Given the description of an element on the screen output the (x, y) to click on. 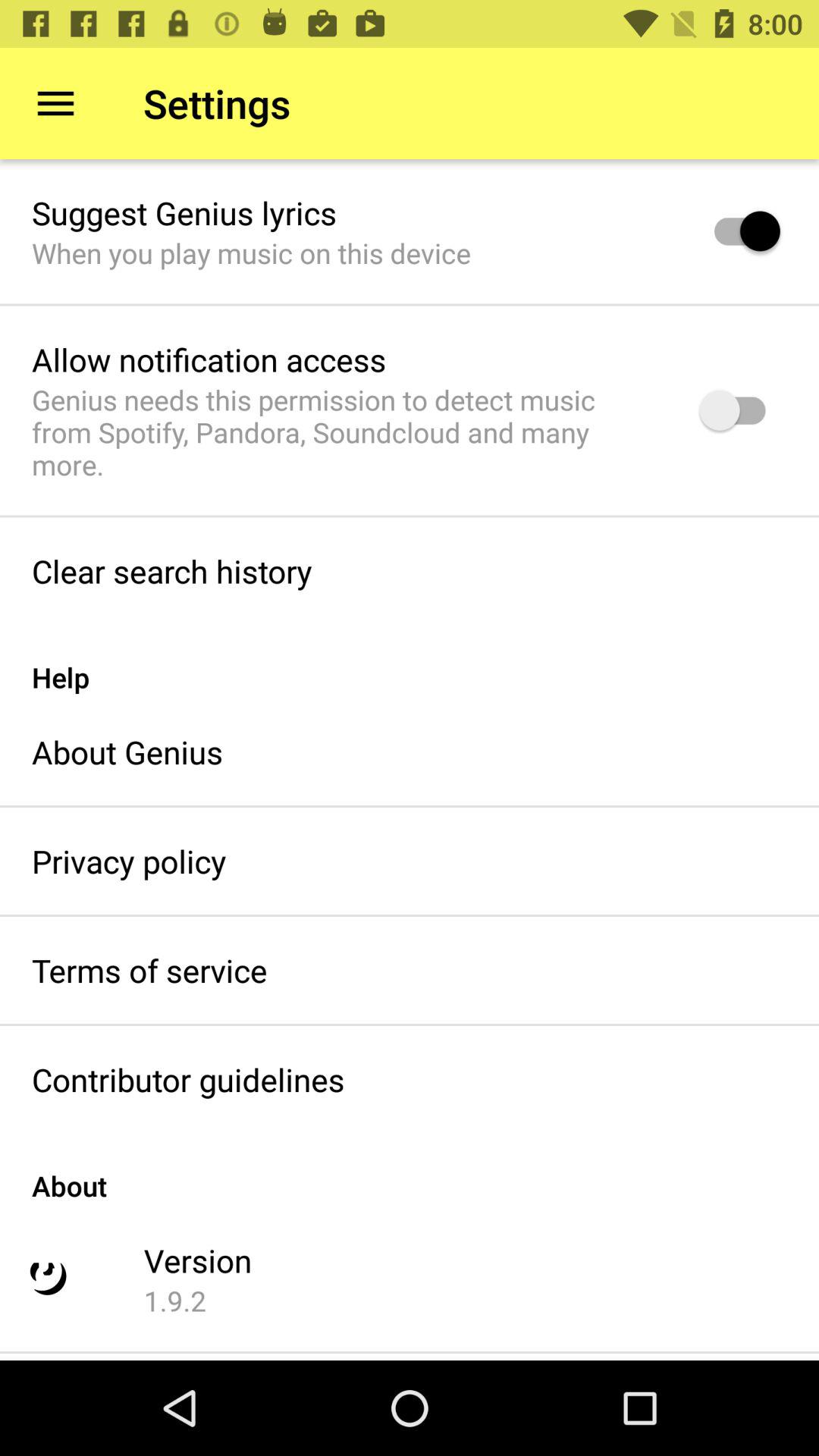
choose the item next to settings app (55, 103)
